Given the description of an element on the screen output the (x, y) to click on. 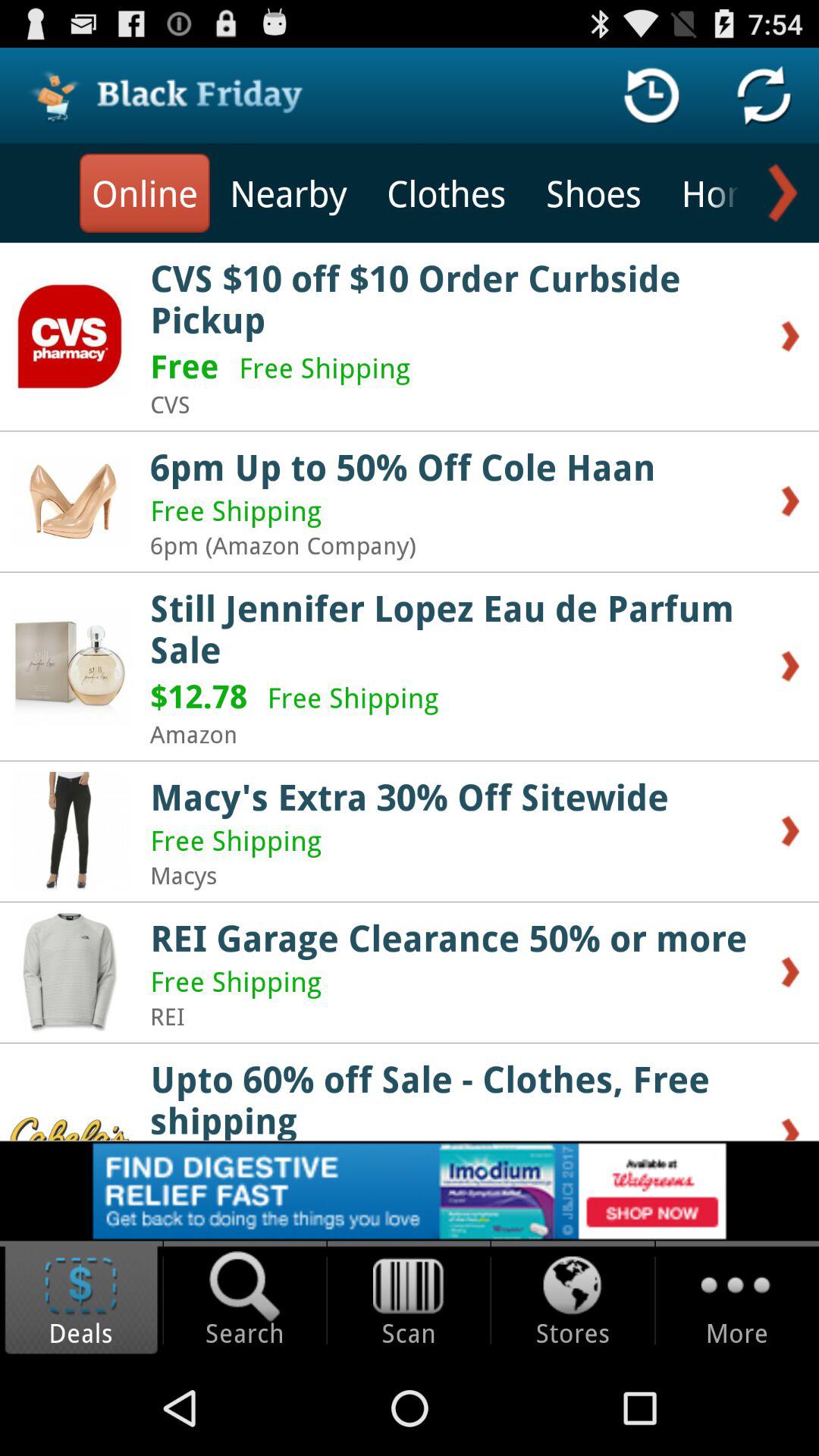
advertisement page (409, 1191)
